Given the description of an element on the screen output the (x, y) to click on. 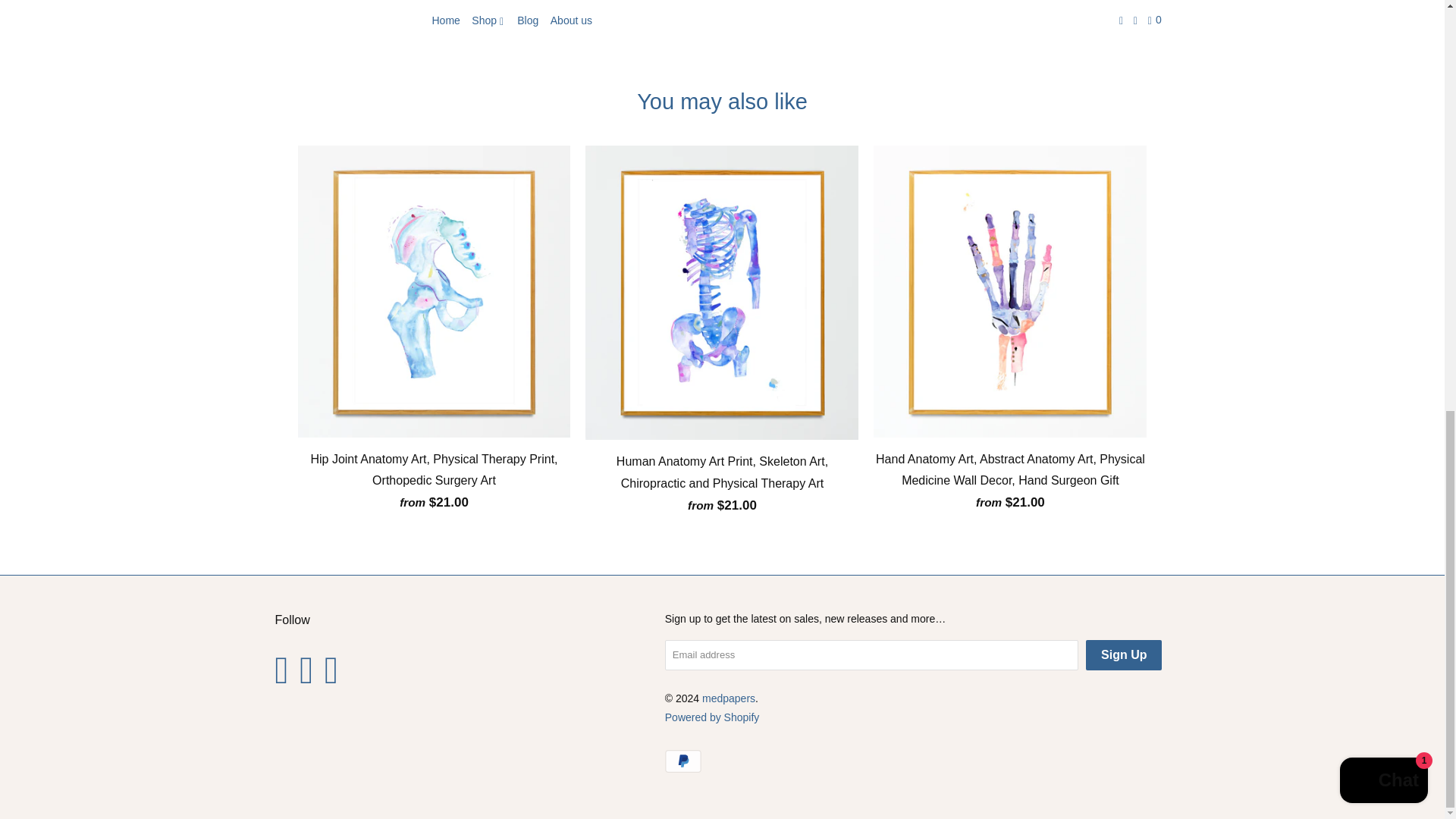
PayPal (684, 761)
Sign Up (1123, 654)
